Given the description of an element on the screen output the (x, y) to click on. 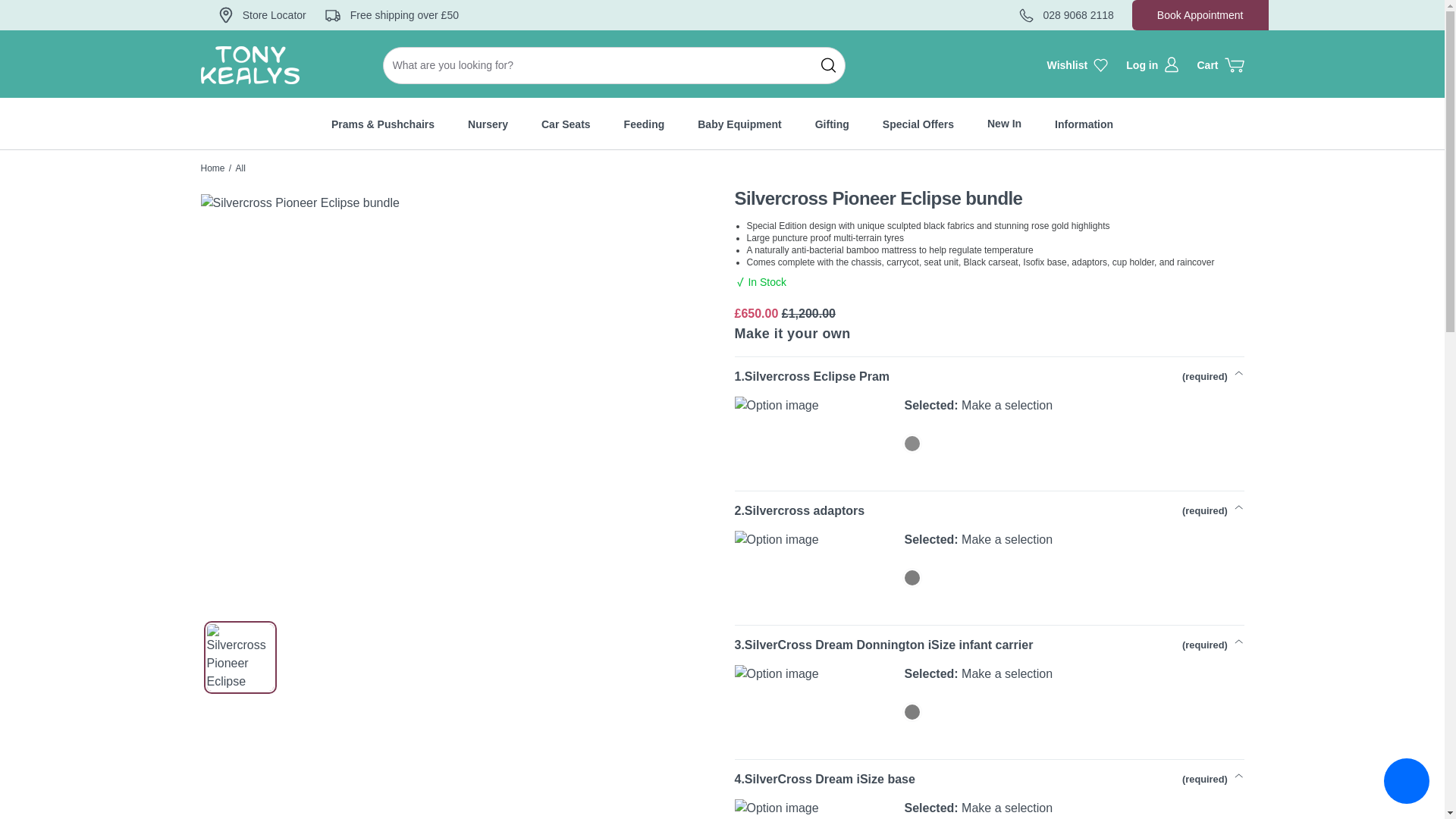
Tony Kealys UK (249, 65)
Store Locator (261, 14)
028 9068 2118 (1066, 14)
Tony Kealys UK (212, 167)
SilverCross Dream Donnington iSize infant carrier (911, 711)
Book Appointment (1200, 15)
